Given the description of an element on the screen output the (x, y) to click on. 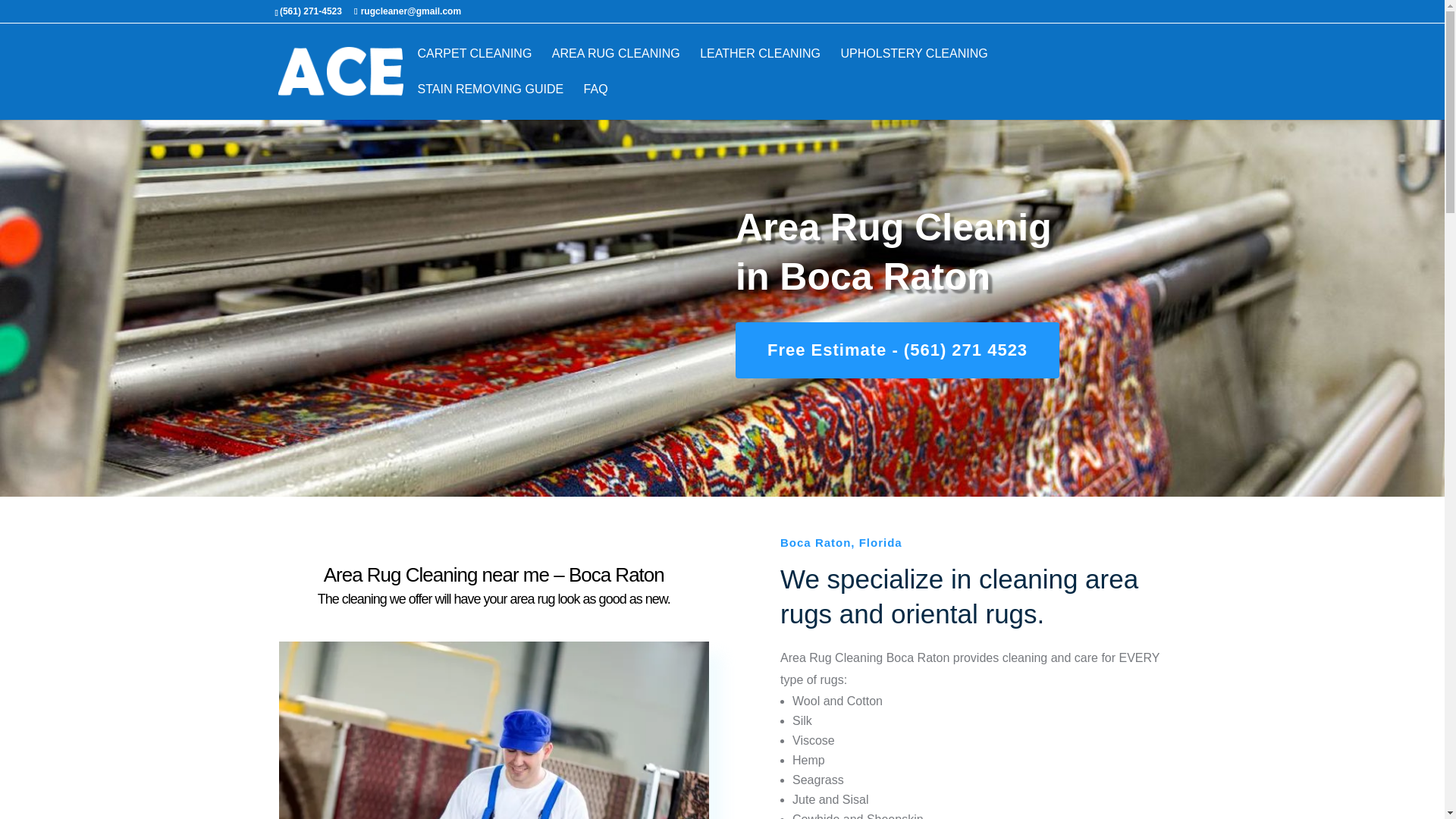
STAIN REMOVING GUIDE (489, 101)
CARPET CLEANING (473, 66)
UPHOLSTERY CLEANING (914, 66)
AREA RUG CLEANING (615, 66)
orientalcleaning (494, 730)
LEATHER CLEANING (760, 66)
